Given the description of an element on the screen output the (x, y) to click on. 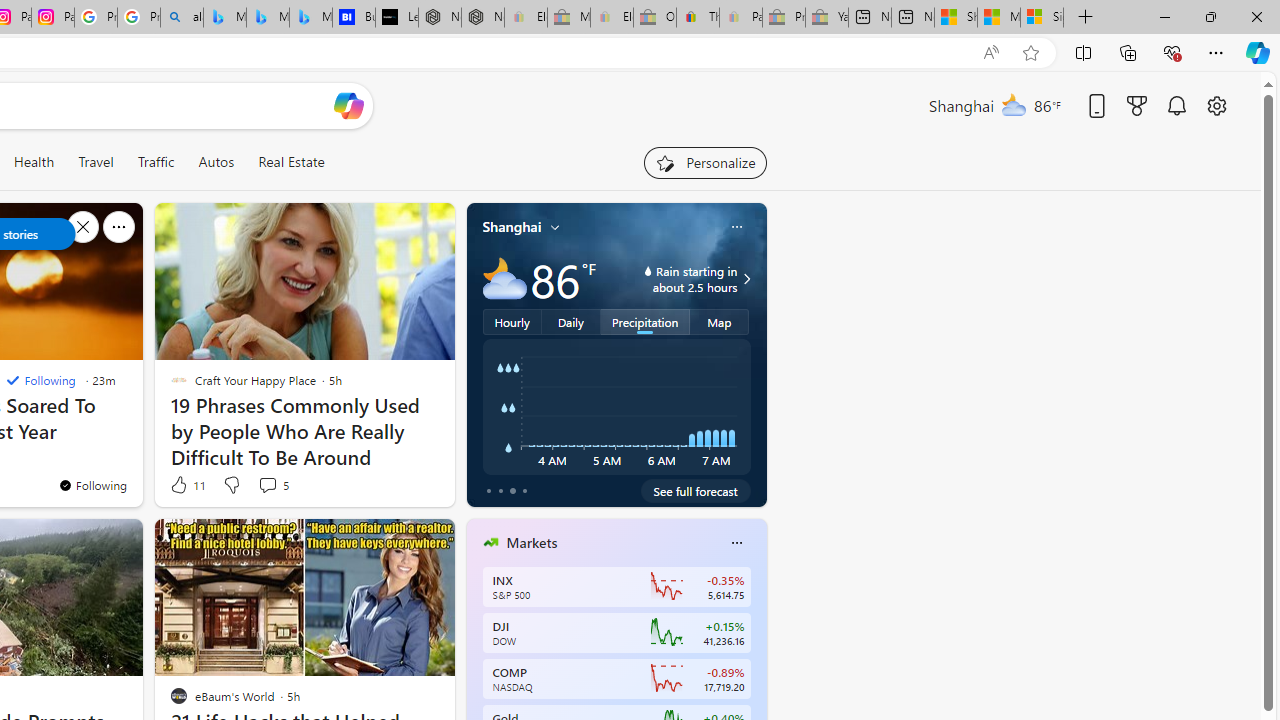
Dislike (230, 484)
Open settings (1216, 105)
Microsoft Bing Travel - Flights from Hong Kong to Bangkok (224, 17)
Notifications (1176, 105)
Health (34, 161)
Microsoft Start (998, 17)
Open Copilot (347, 105)
4 AM 5 AM 6 AM 7 AM (616, 407)
Real Estate (290, 162)
View comments 5 Comment (272, 484)
next (756, 670)
Add this page to favorites (Ctrl+D) (1030, 53)
